Given the description of an element on the screen output the (x, y) to click on. 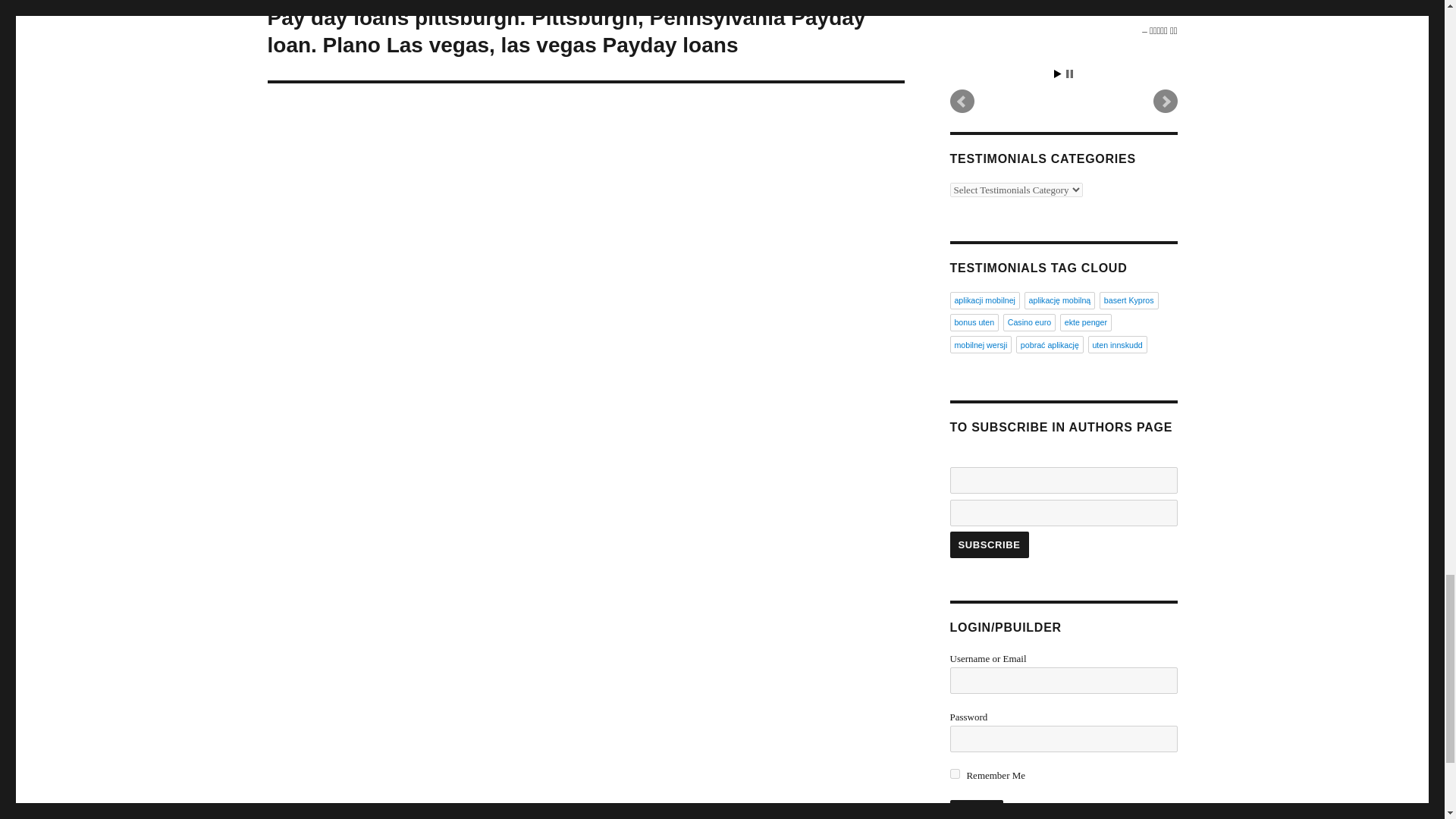
forever (954, 773)
Log In (976, 809)
Subscribe (988, 544)
